Given the description of an element on the screen output the (x, y) to click on. 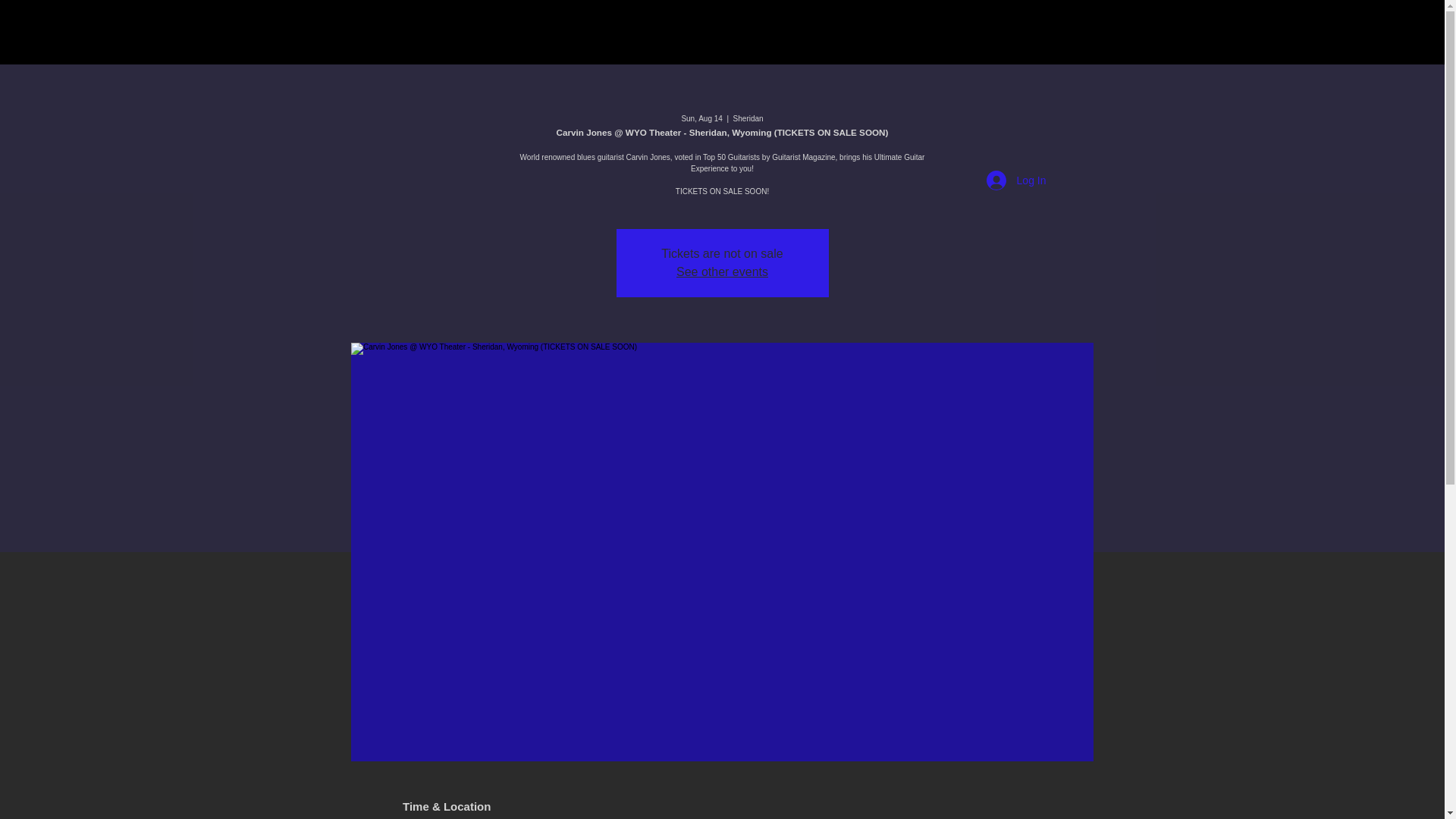
See other events (722, 271)
Log In (1016, 180)
